Given the description of an element on the screen output the (x, y) to click on. 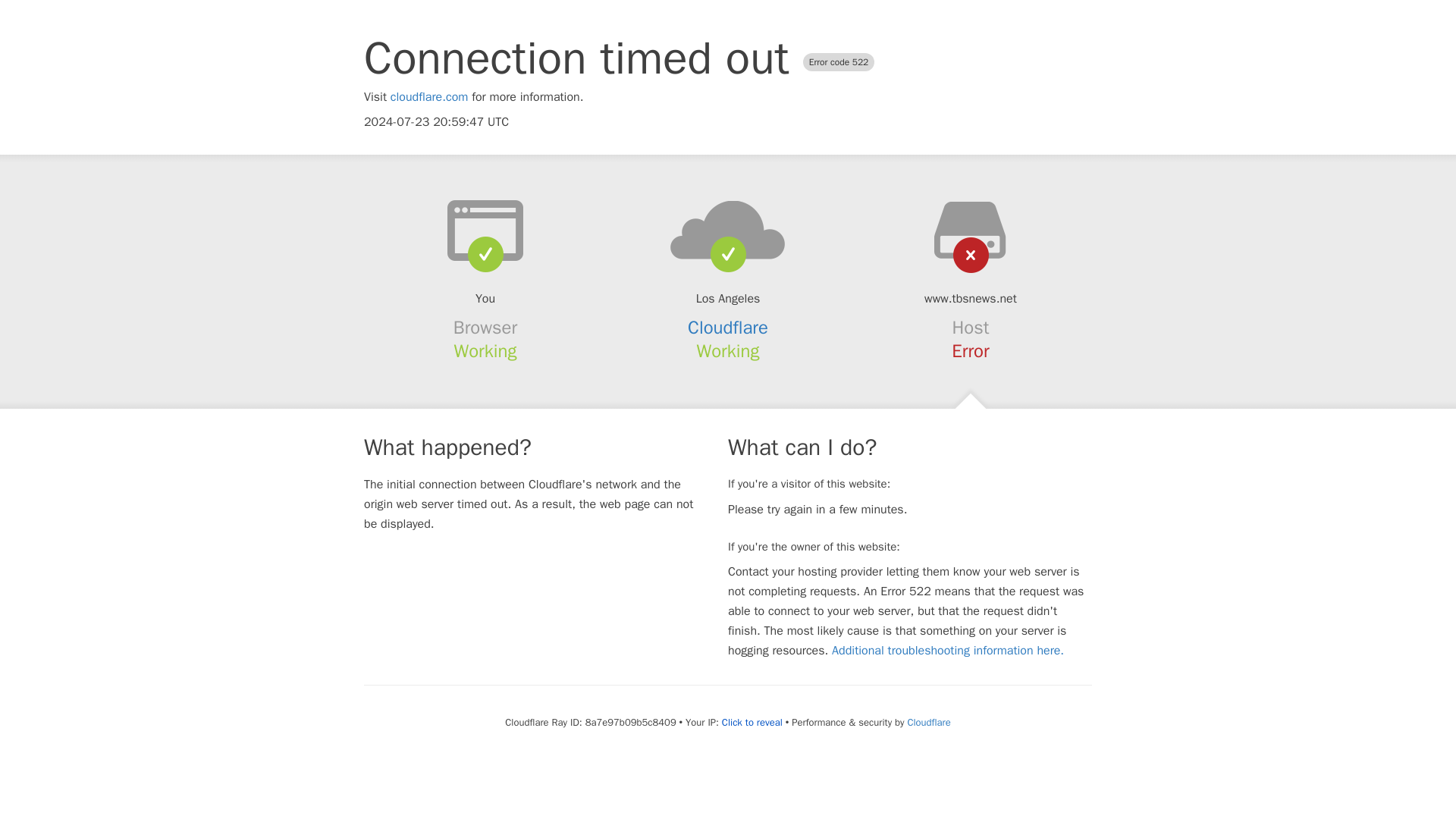
Cloudflare (727, 327)
cloudflare.com (429, 96)
Click to reveal (752, 722)
Additional troubleshooting information here. (947, 650)
Cloudflare (928, 721)
